Given the description of an element on the screen output the (x, y) to click on. 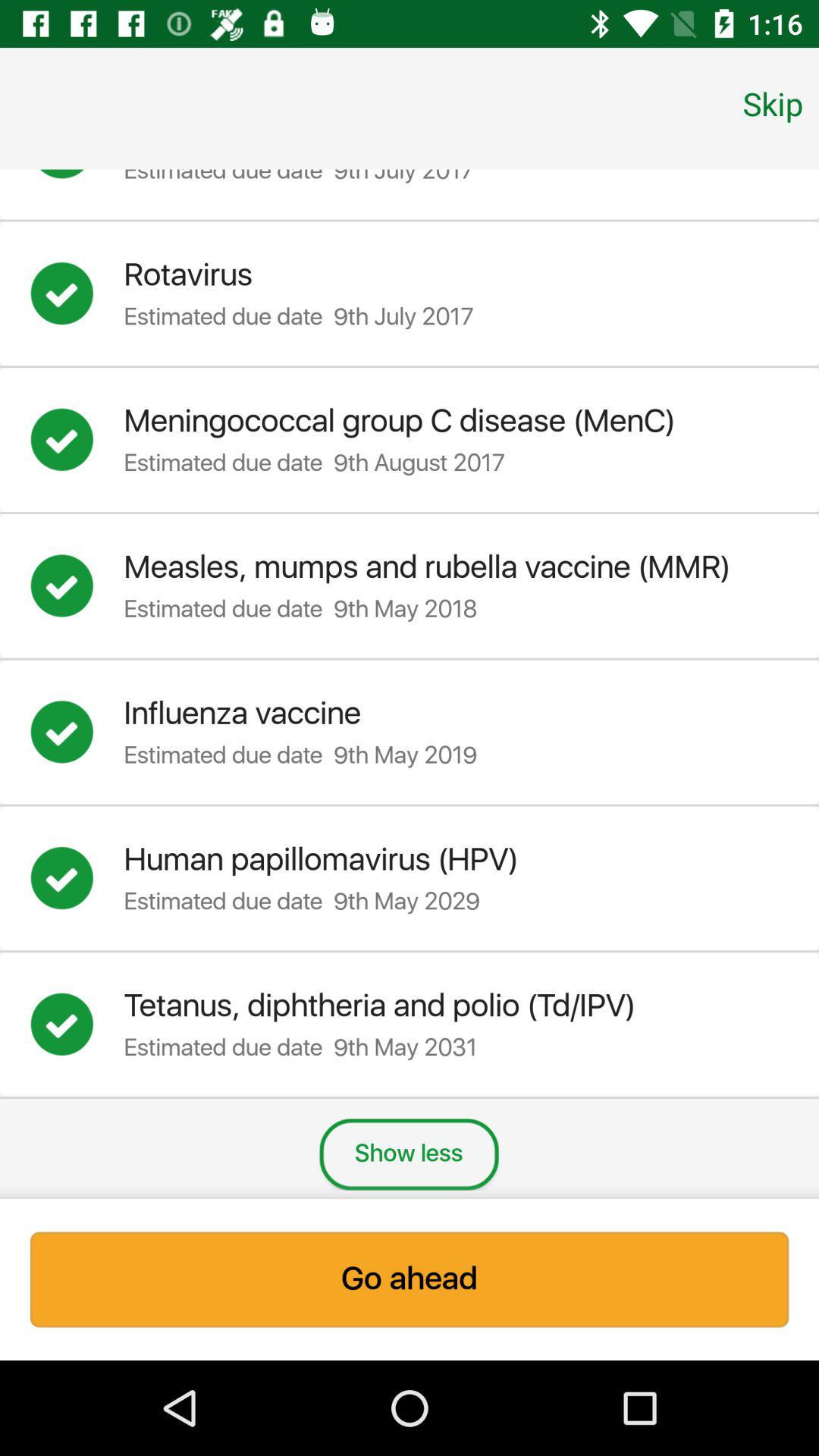
tap item above the measles mumps and icon (772, 103)
